Given the description of an element on the screen output the (x, y) to click on. 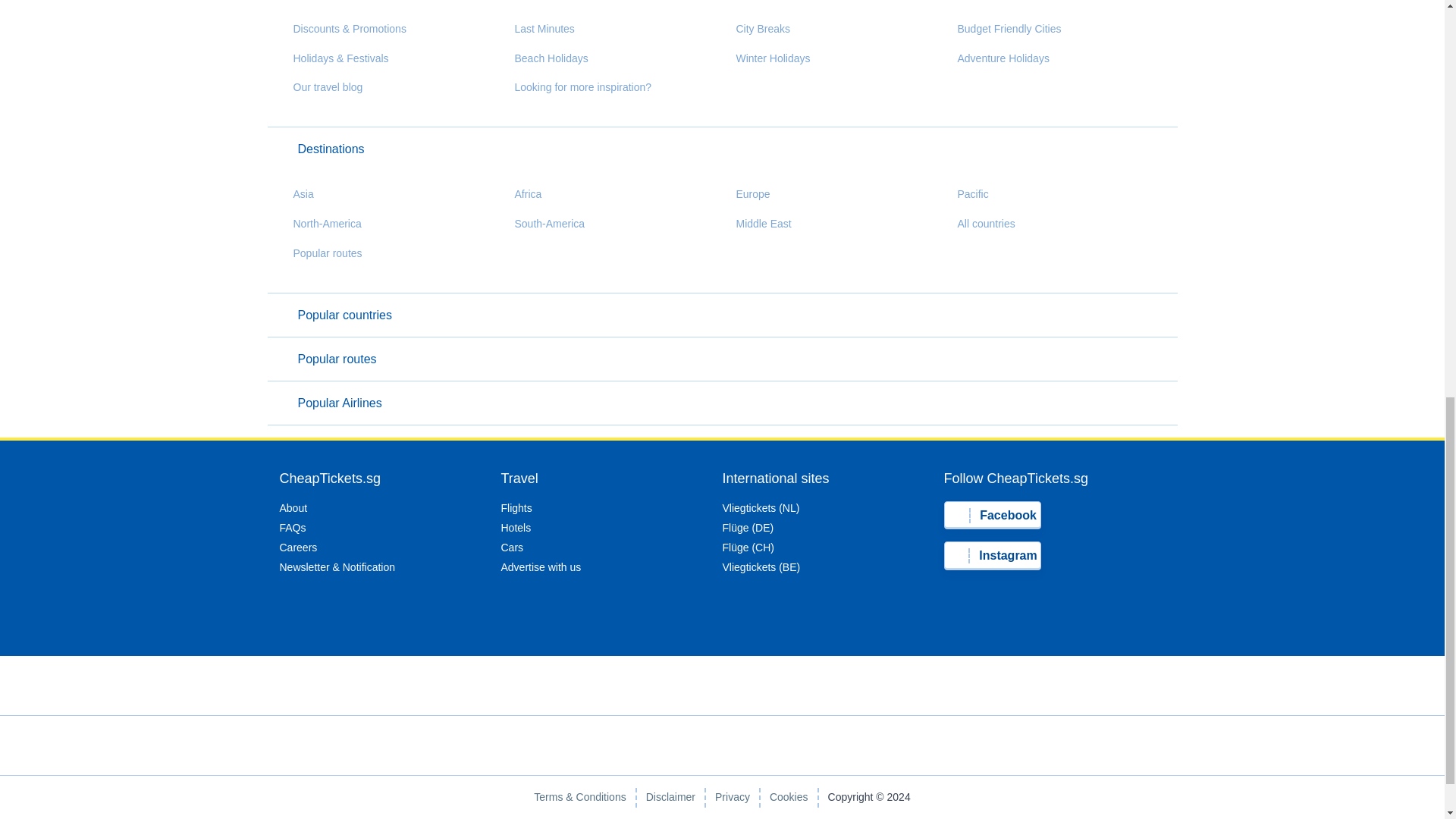
FAQs (292, 527)
City Breaks (756, 28)
Beach Holidays (544, 58)
About (293, 508)
Asia (296, 194)
Our travel blog (320, 87)
Middle East (756, 223)
Cars (511, 547)
Careers (298, 547)
Last Minutes (536, 28)
